Given the description of an element on the screen output the (x, y) to click on. 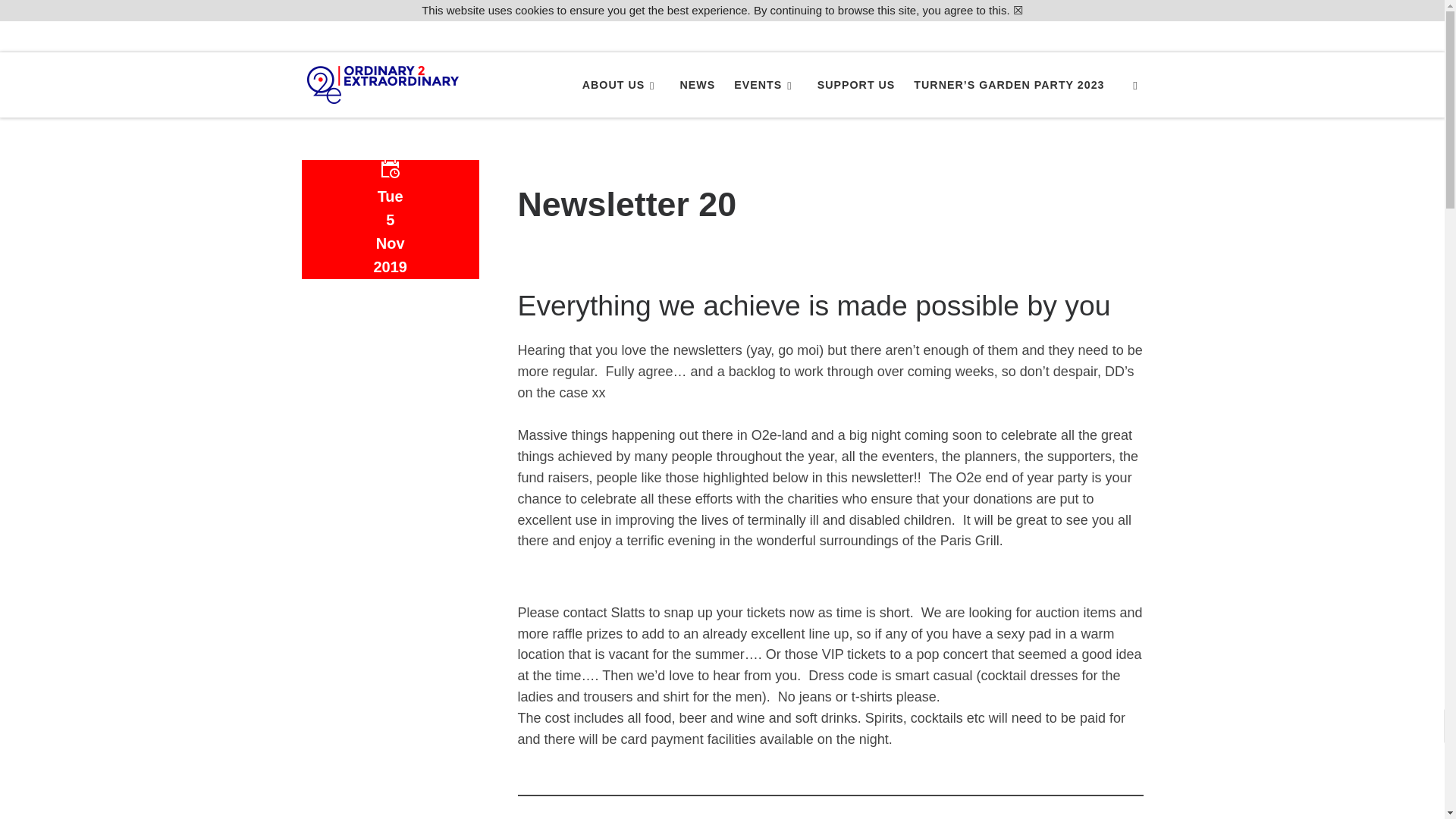
Skip to content (60, 20)
NEWS (697, 84)
ABOUT US (621, 84)
EVENTS (766, 84)
SUPPORT US (855, 84)
